Given the description of an element on the screen output the (x, y) to click on. 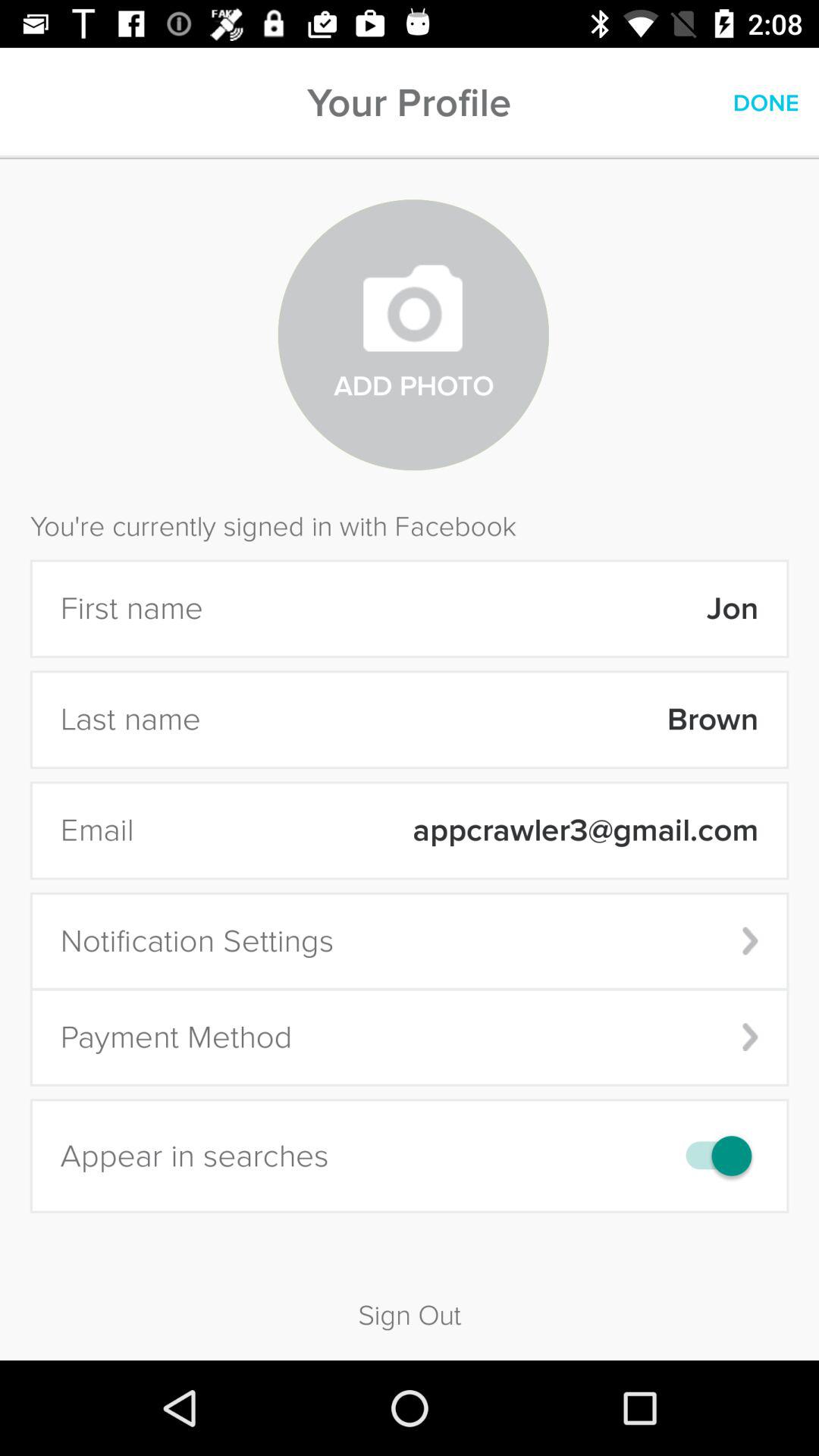
turn on the notification settings icon (409, 941)
